Given the description of an element on the screen output the (x, y) to click on. 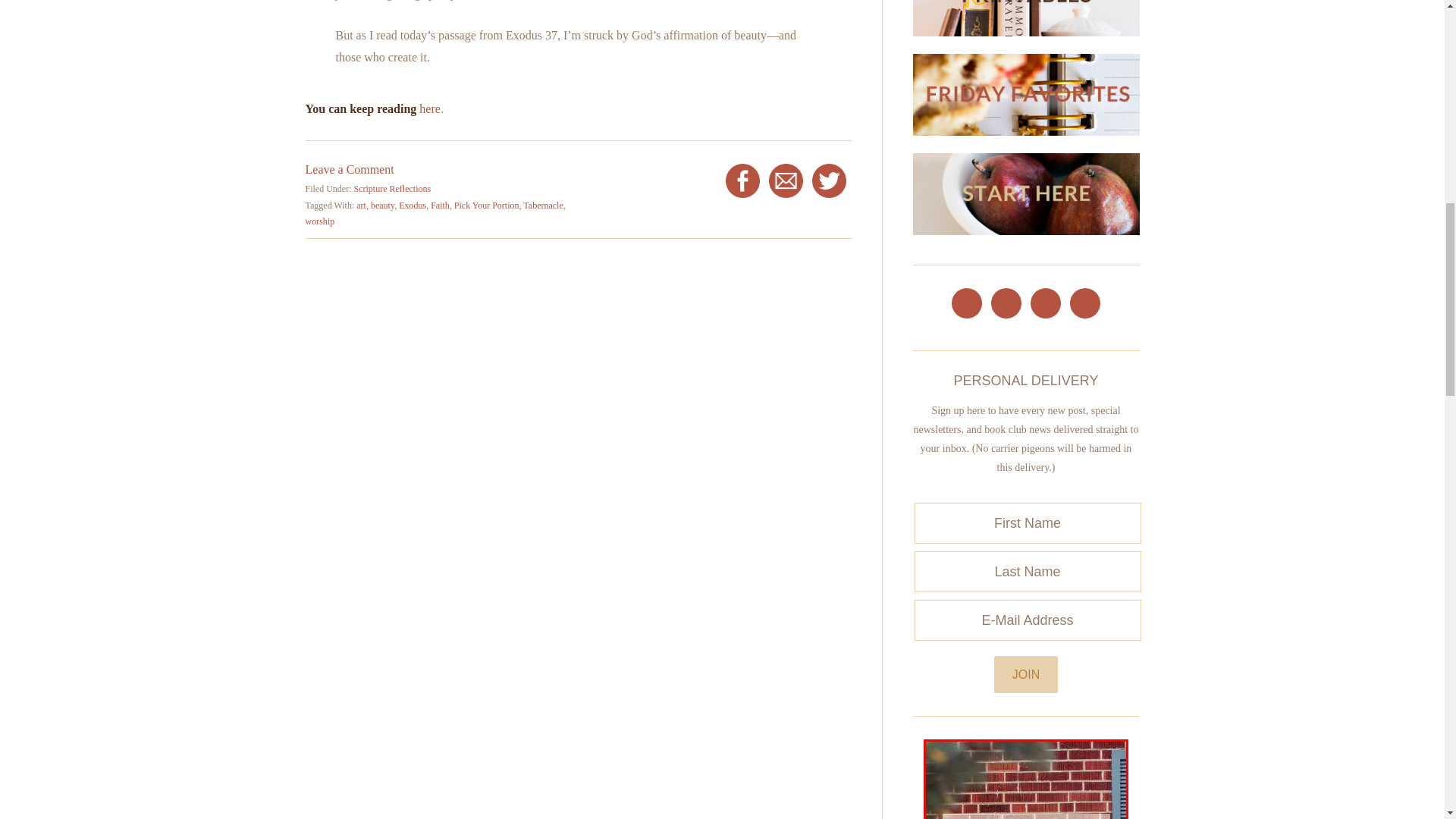
Join (1026, 674)
Pick Your Portion (486, 204)
Tabernacle (542, 204)
Exodus (412, 204)
twitter (829, 180)
Join (1026, 674)
email (786, 180)
art (361, 204)
Faith (439, 204)
Scripture Reflections (391, 188)
worship (319, 221)
here (430, 108)
Leave a Comment (348, 169)
facebook (742, 180)
beauty (382, 204)
